Given the description of an element on the screen output the (x, y) to click on. 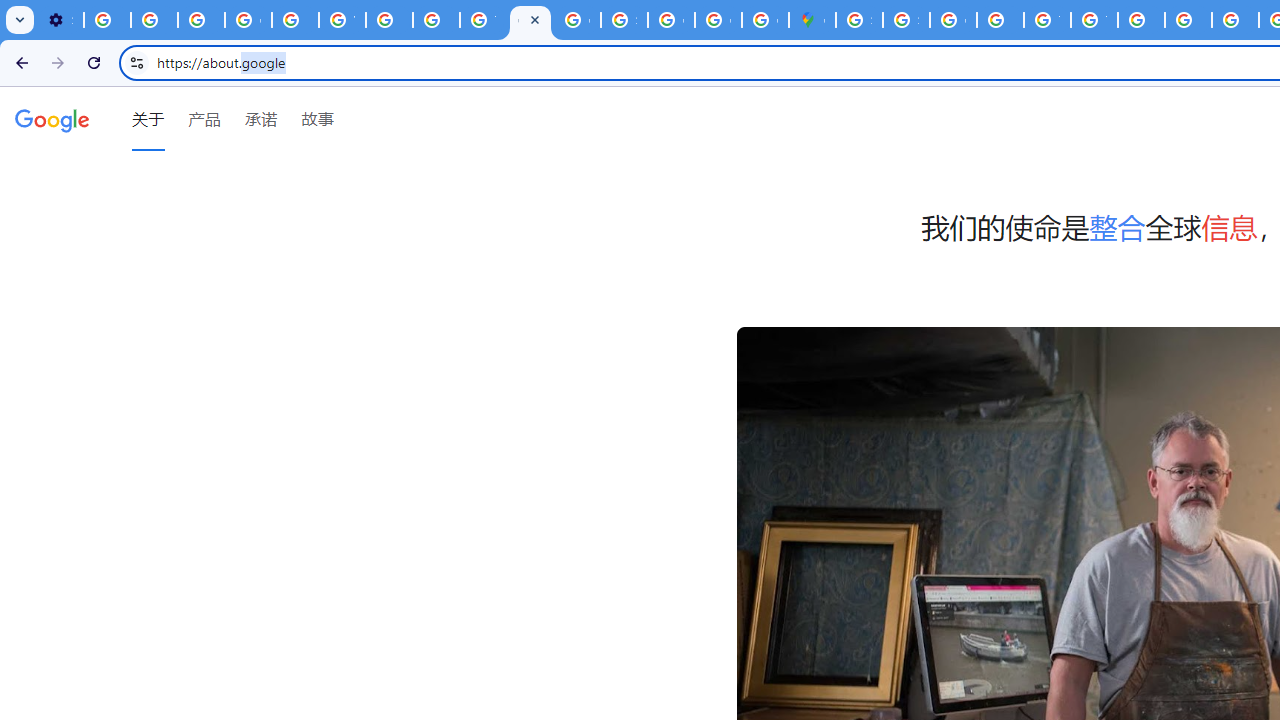
Sign in - Google Accounts (623, 20)
Privacy Help Center - Policies Help (1188, 20)
Google Maps (811, 20)
Blogger Policies and Guidelines - Transparency Center (1140, 20)
Settings - Customize profile (60, 20)
Delete photos & videos - Computer - Google Photos Help (107, 20)
Sign in - Google Accounts (906, 20)
Privacy Help Center - Policies Help (1235, 20)
